Given the description of an element on the screen output the (x, y) to click on. 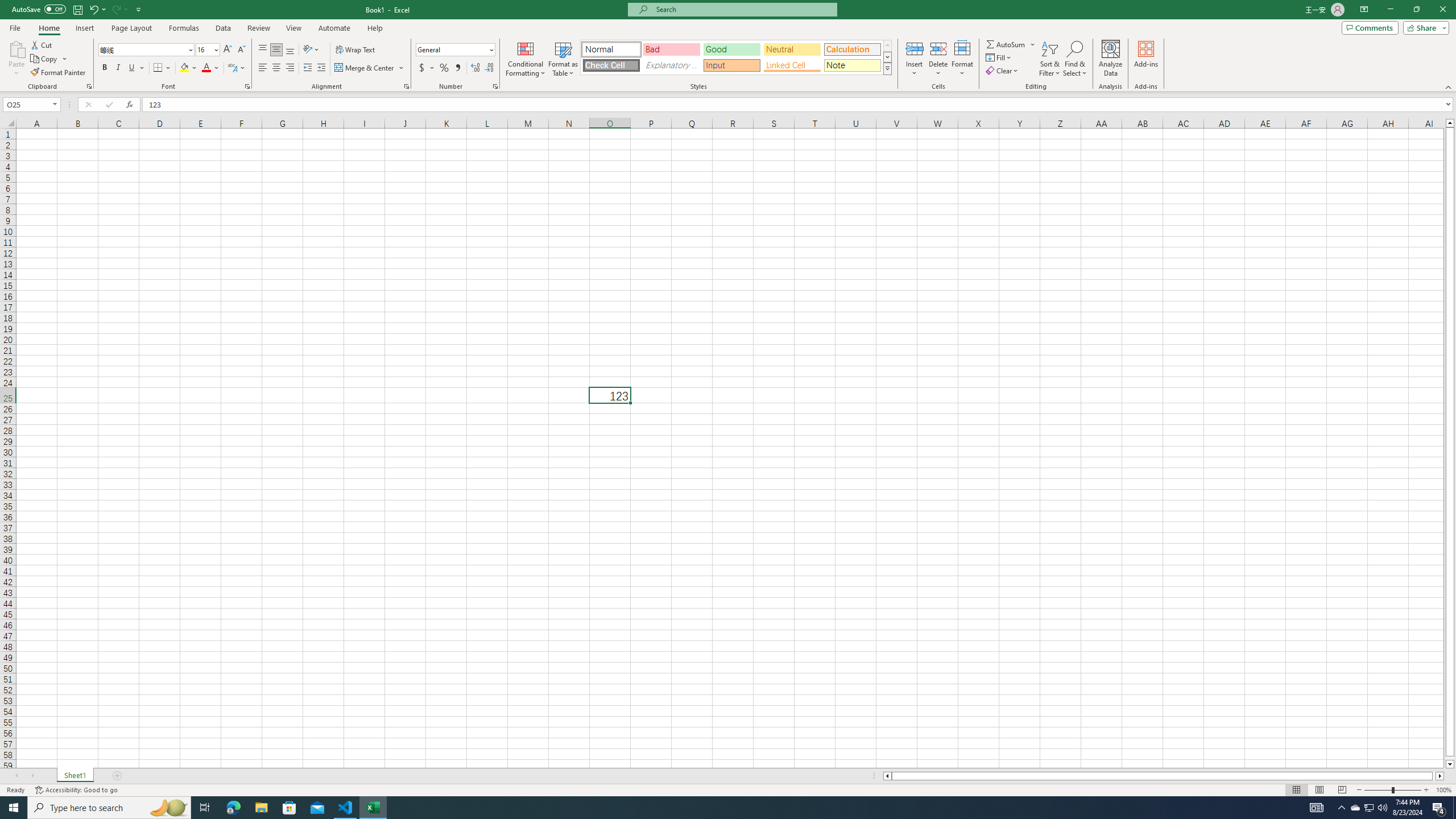
Good (731, 49)
Fill (999, 56)
Office Clipboard... (88, 85)
Cell Styles (887, 68)
Accounting Number Format (426, 67)
Font (142, 49)
Font Size (204, 49)
Decrease Indent (307, 67)
Calculation (852, 49)
